Given the description of an element on the screen output the (x, y) to click on. 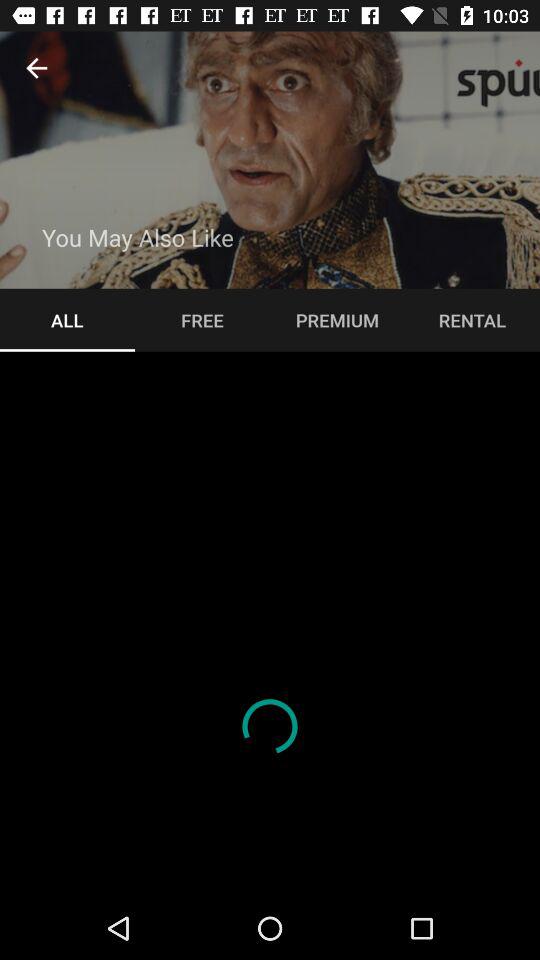
click item at the top left corner (36, 68)
